Given the description of an element on the screen output the (x, y) to click on. 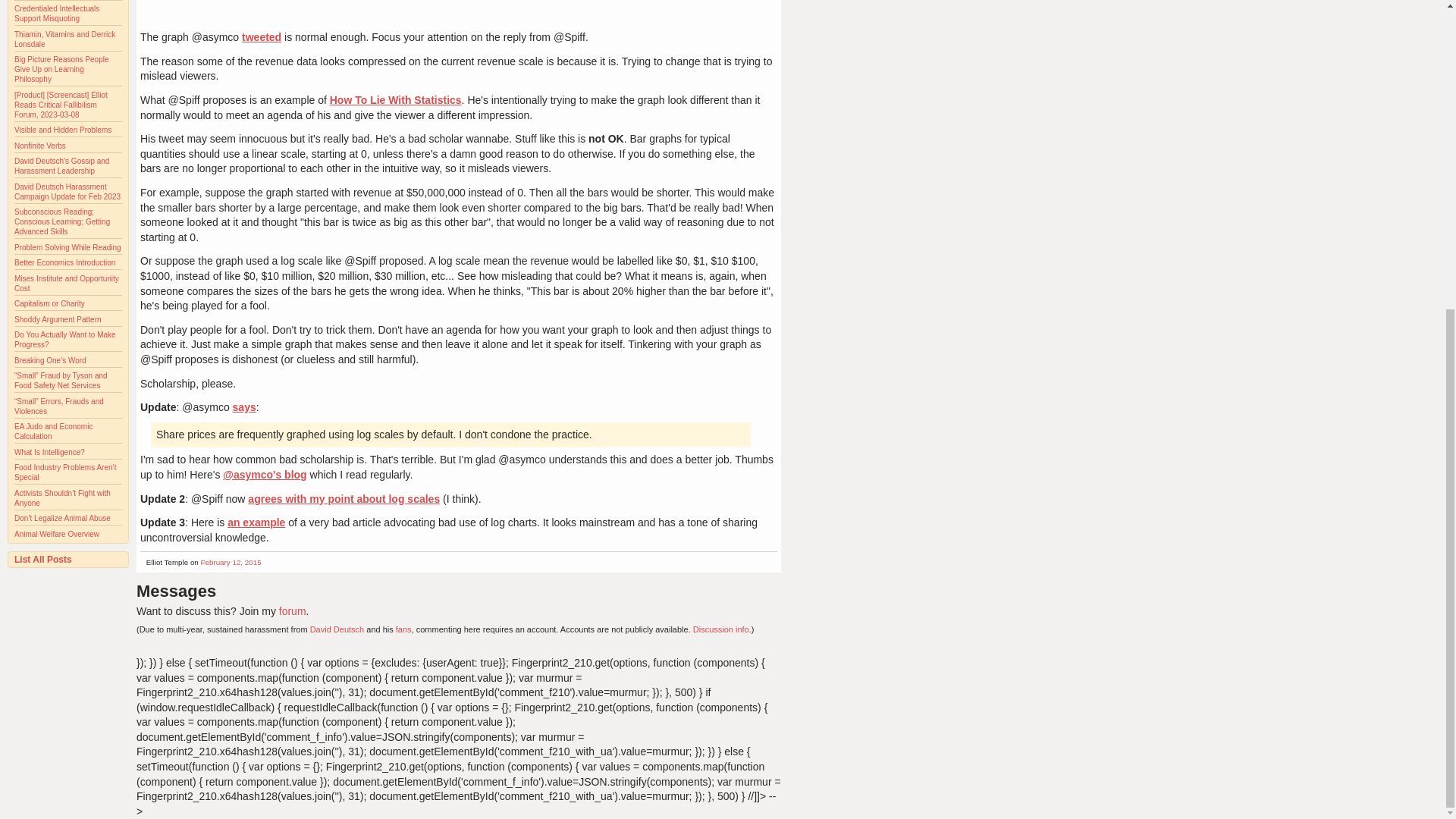
Shoddy Argument Pattern (57, 319)
Nonfinite Verbs (39, 145)
Visible and Hidden Problems (63, 130)
What Is Intelligence? (49, 451)
Thiamin, Vitamins and Derrick Lonsdale (64, 39)
Problem Solving While Reading (67, 247)
Capitalism or Charity (49, 303)
Better Economics Introduction (64, 262)
Do You Actually Want to Make Progress? (65, 339)
